Given the description of an element on the screen output the (x, y) to click on. 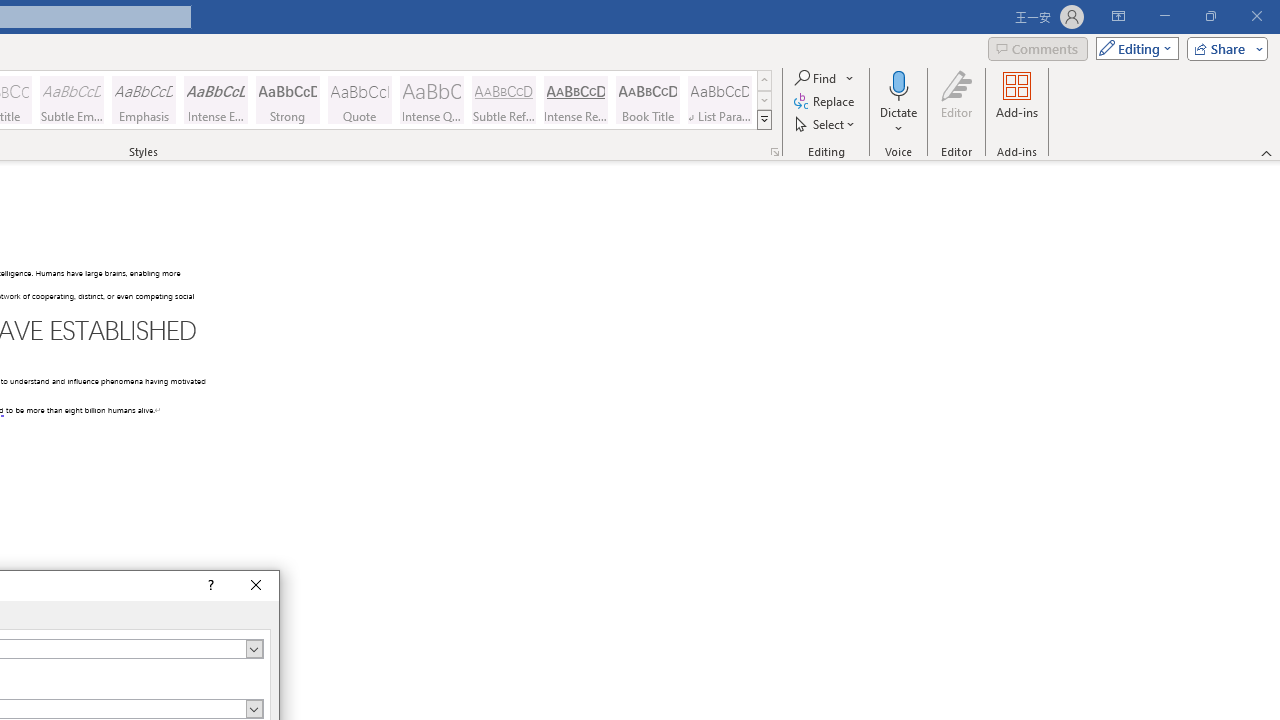
Subtle Reference (504, 100)
Minimize (1164, 16)
Intense Reference (575, 100)
